Given the description of an element on the screen output the (x, y) to click on. 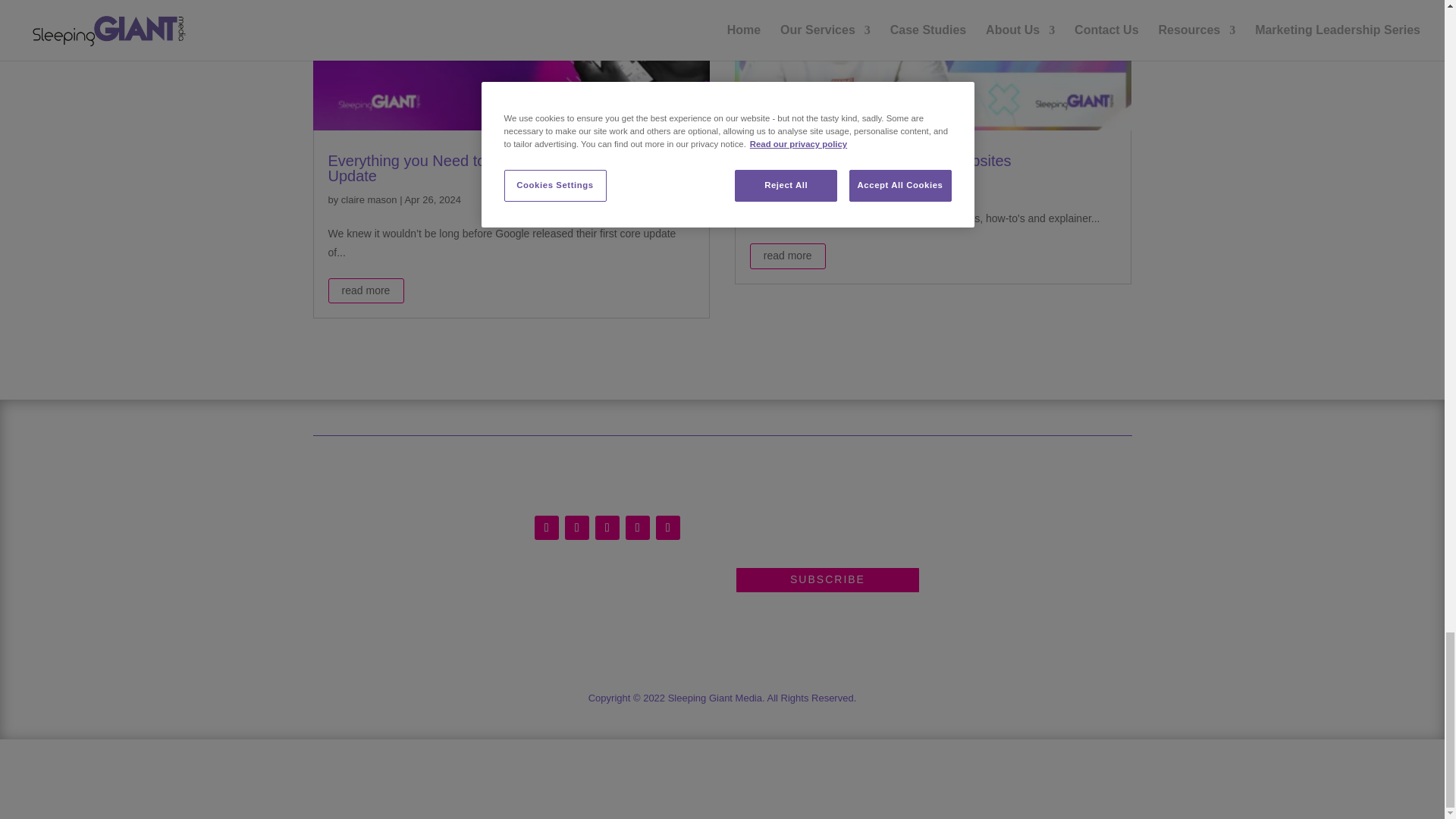
Follow on LinkedIn (607, 527)
Posts by claire mason (368, 199)
Posts by Alex Clark (783, 184)
Follow on Instagram (637, 527)
Follow on X (576, 527)
Follow on Facebook (546, 527)
